Given the description of an element on the screen output the (x, y) to click on. 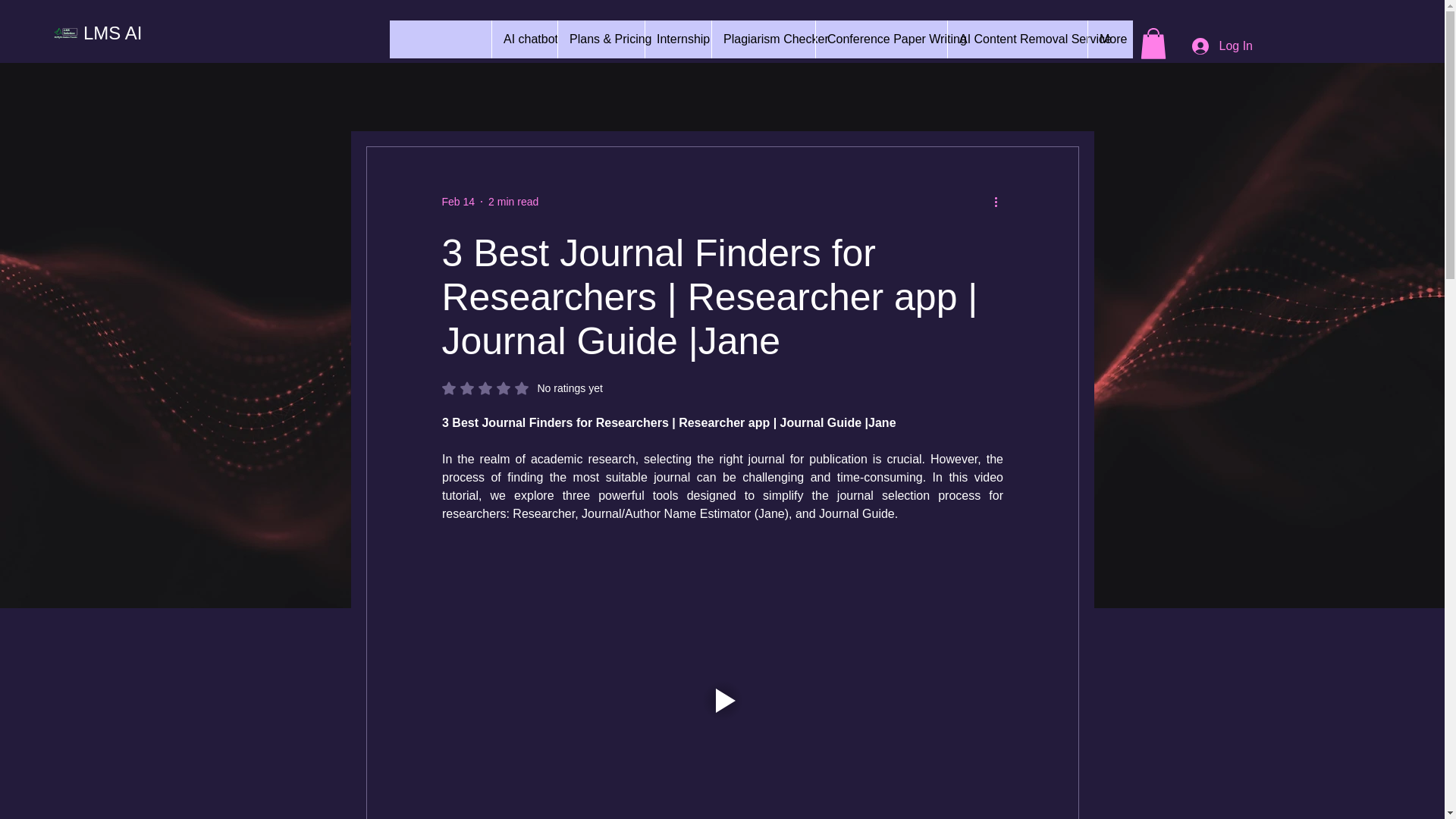
Log In (1221, 45)
AI chatbot (521, 387)
Internship (524, 39)
Plagiarism Checker (678, 39)
Conference Paper Writing (763, 39)
2 min read (881, 39)
AI Content Removal Service (512, 201)
Feb 14 (1017, 39)
